Given the description of an element on the screen output the (x, y) to click on. 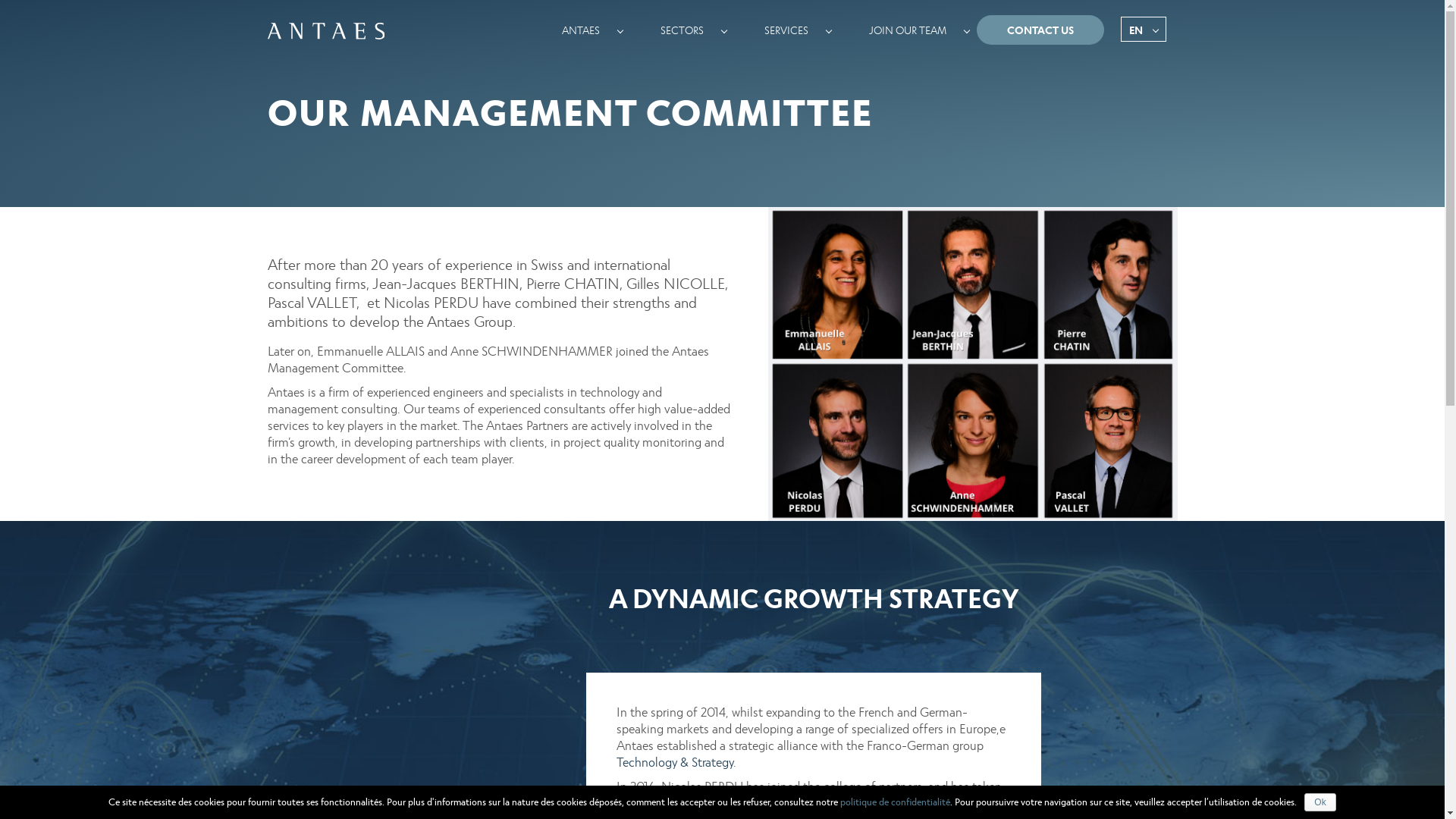
Ok Element type: text (1319, 802)
CONTACT US Element type: text (1040, 29)
EN Element type: text (1143, 28)
Technology & Strategy Element type: text (673, 760)
Antaes Element type: hover (324, 30)
